Given the description of an element on the screen output the (x, y) to click on. 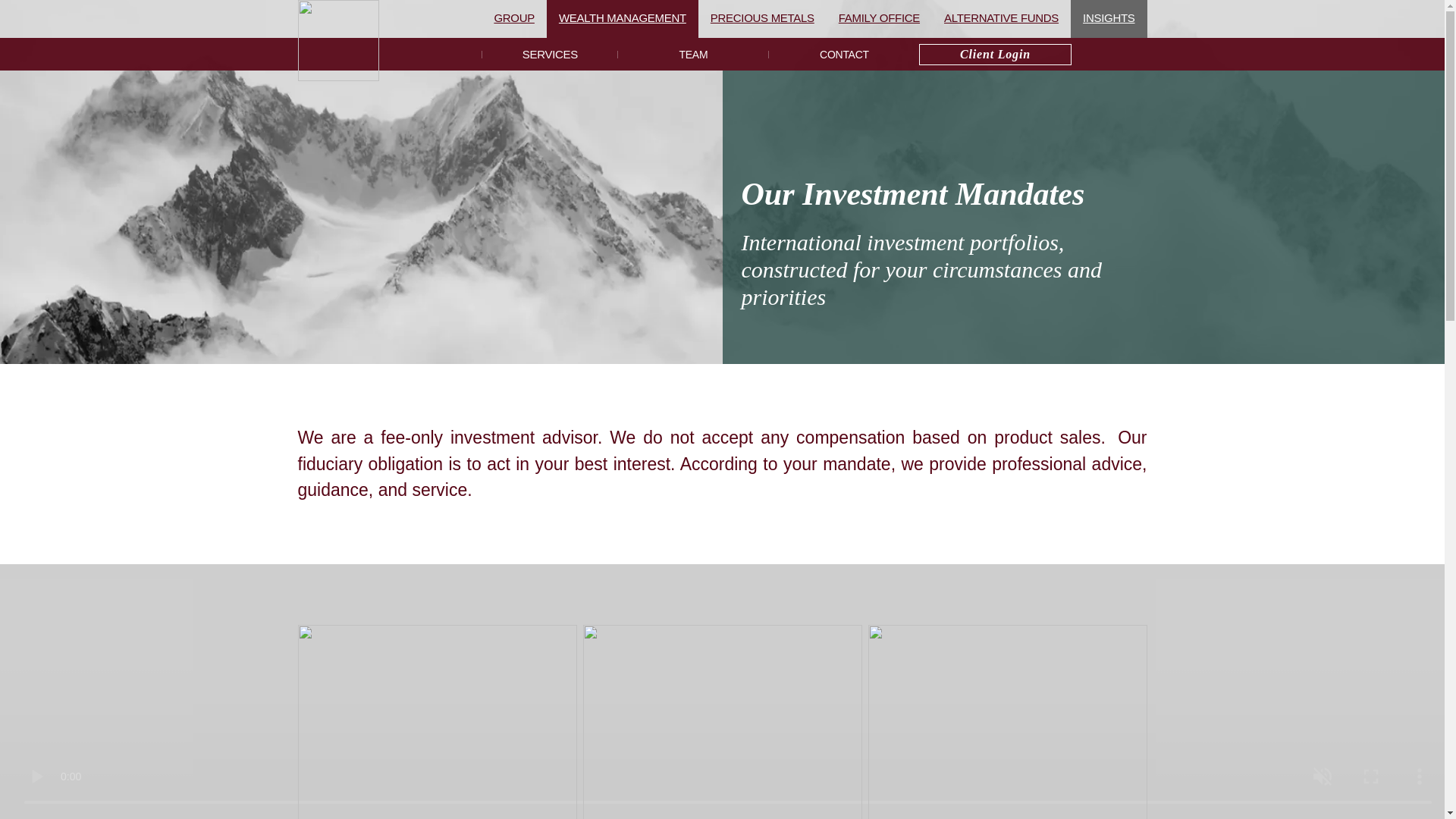
TEAM (692, 53)
WEALTH MANAGEMENT (622, 18)
PRECIOUS METALS (762, 18)
ALTERNATIVE FUNDS (1000, 18)
INSIGHTS (1108, 18)
CONTACT (843, 53)
Client Login (994, 54)
FAMILY OFFICE (879, 18)
GROUP (514, 18)
